Given the description of an element on the screen output the (x, y) to click on. 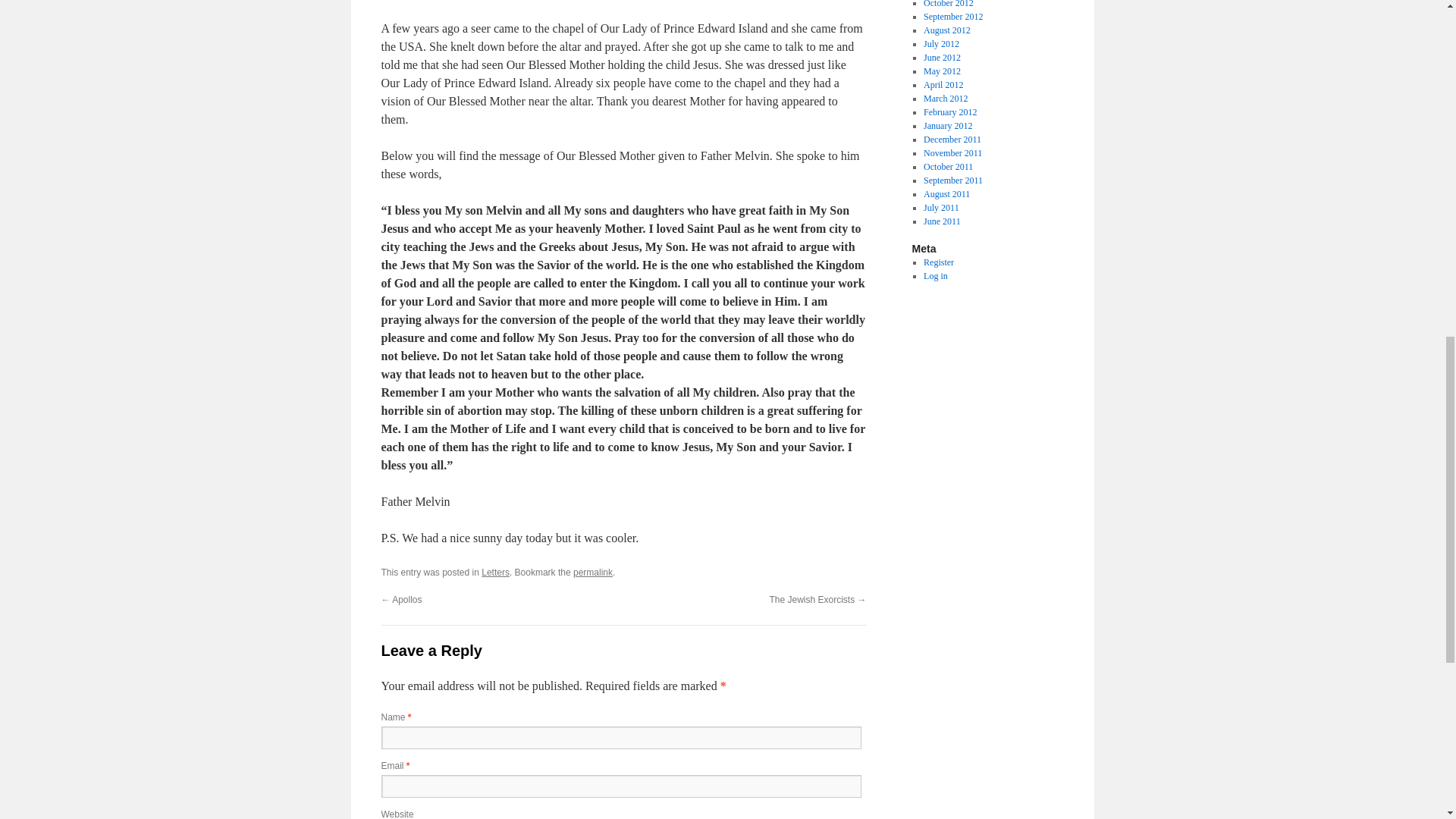
permalink (592, 572)
Permalink to Paul in Ephesus (592, 572)
Letters (495, 572)
